Given the description of an element on the screen output the (x, y) to click on. 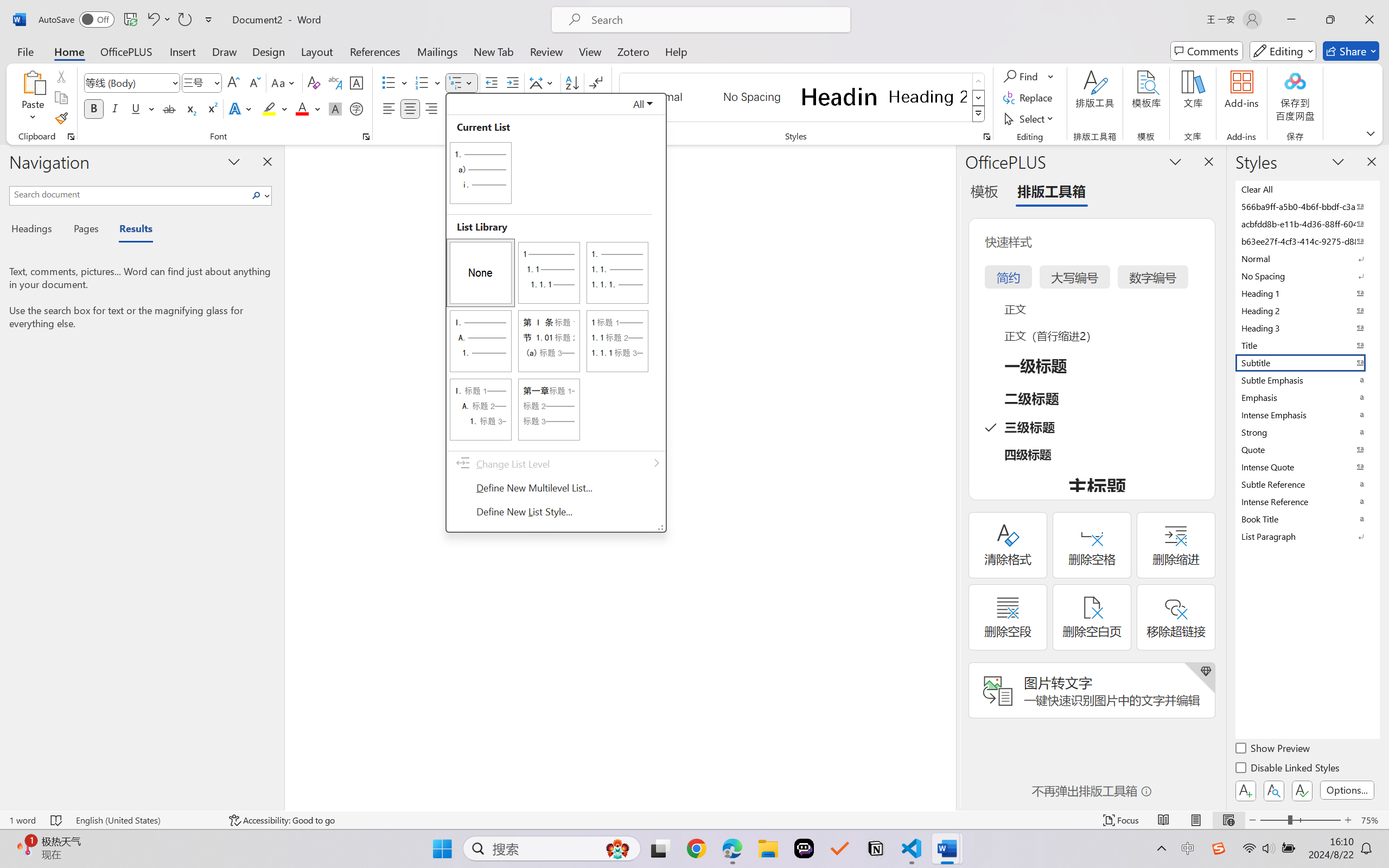
Explorer Section: windows_crawler (94, 48)
Outline Section (94, 810)
Extensions (Ctrl+Shift+X) (13, 151)
remote (9, 836)
New Folder... (130, 48)
Terminal actions (868, 655)
Run Python File (1340, 31)
Terminal 1 powershell (1357, 672)
Toggle Secondary Side Bar (Ctrl+Alt+B) (1292, 9)
Editor actions (1359, 31)
